Given the description of an element on the screen output the (x, y) to click on. 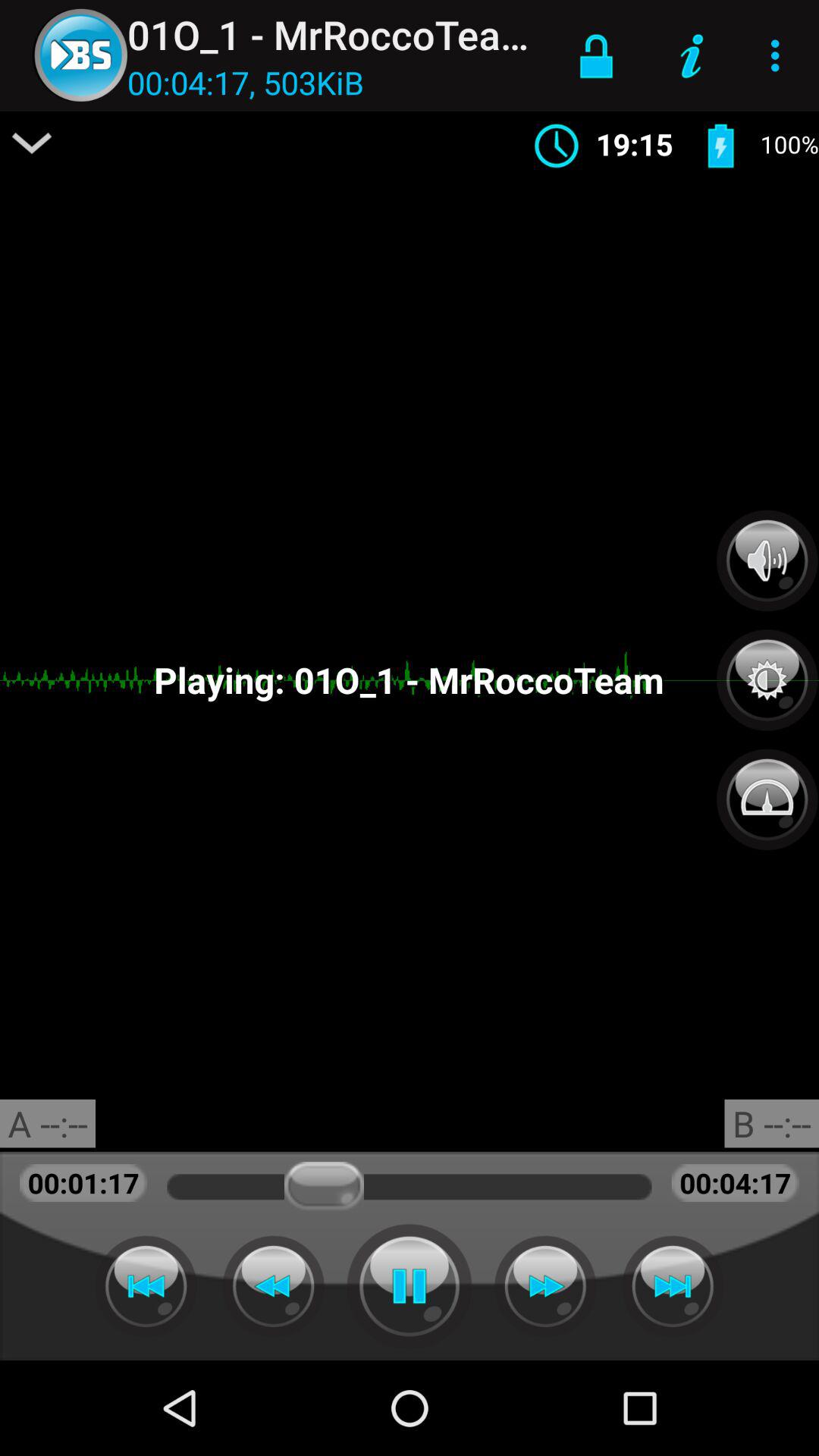
pause button (409, 1286)
